Given the description of an element on the screen output the (x, y) to click on. 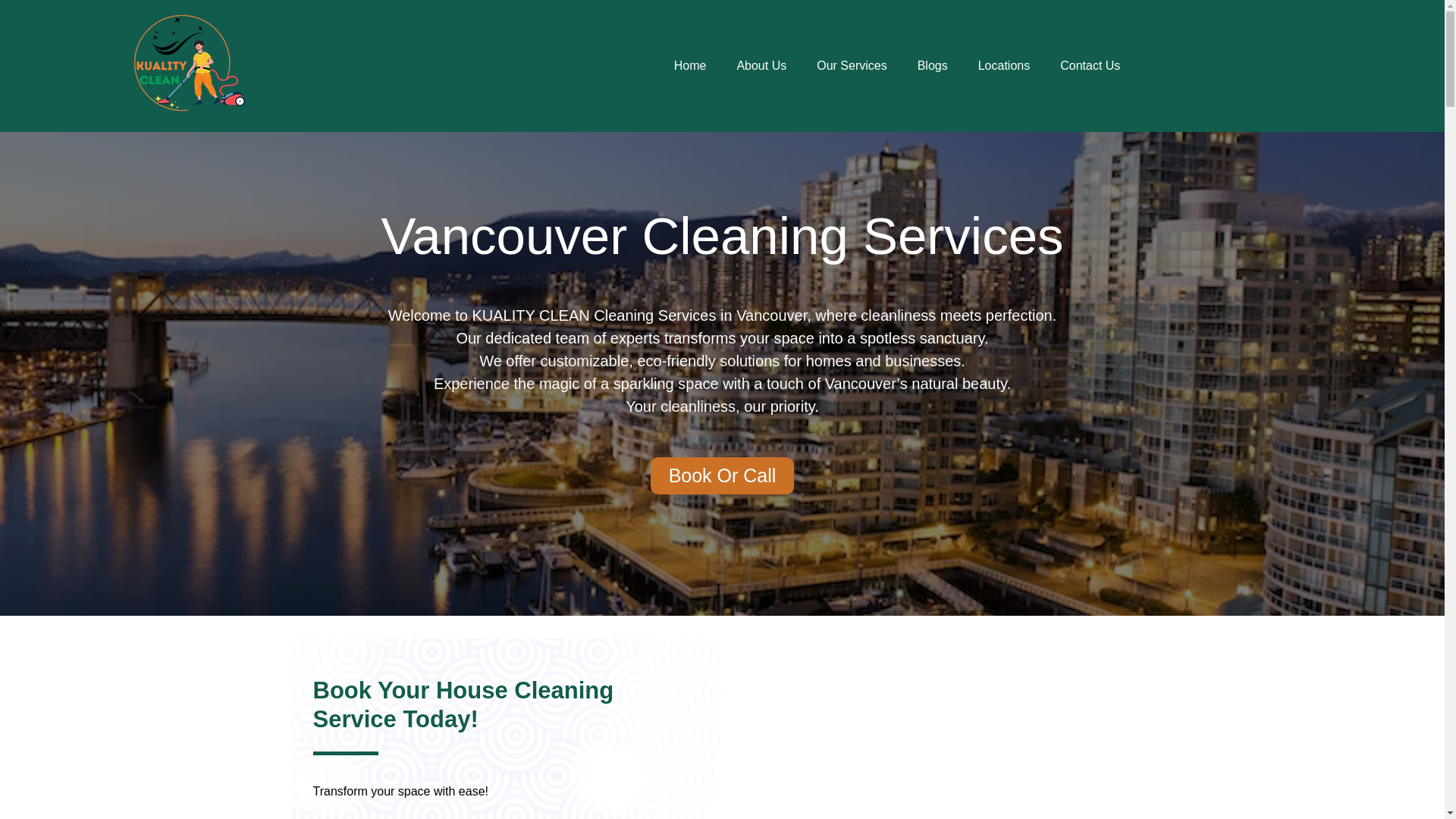
Our Services (851, 65)
Home (690, 65)
Contact Us (1090, 65)
About Us (761, 65)
Locations (1003, 65)
Blogs (932, 65)
